Given the description of an element on the screen output the (x, y) to click on. 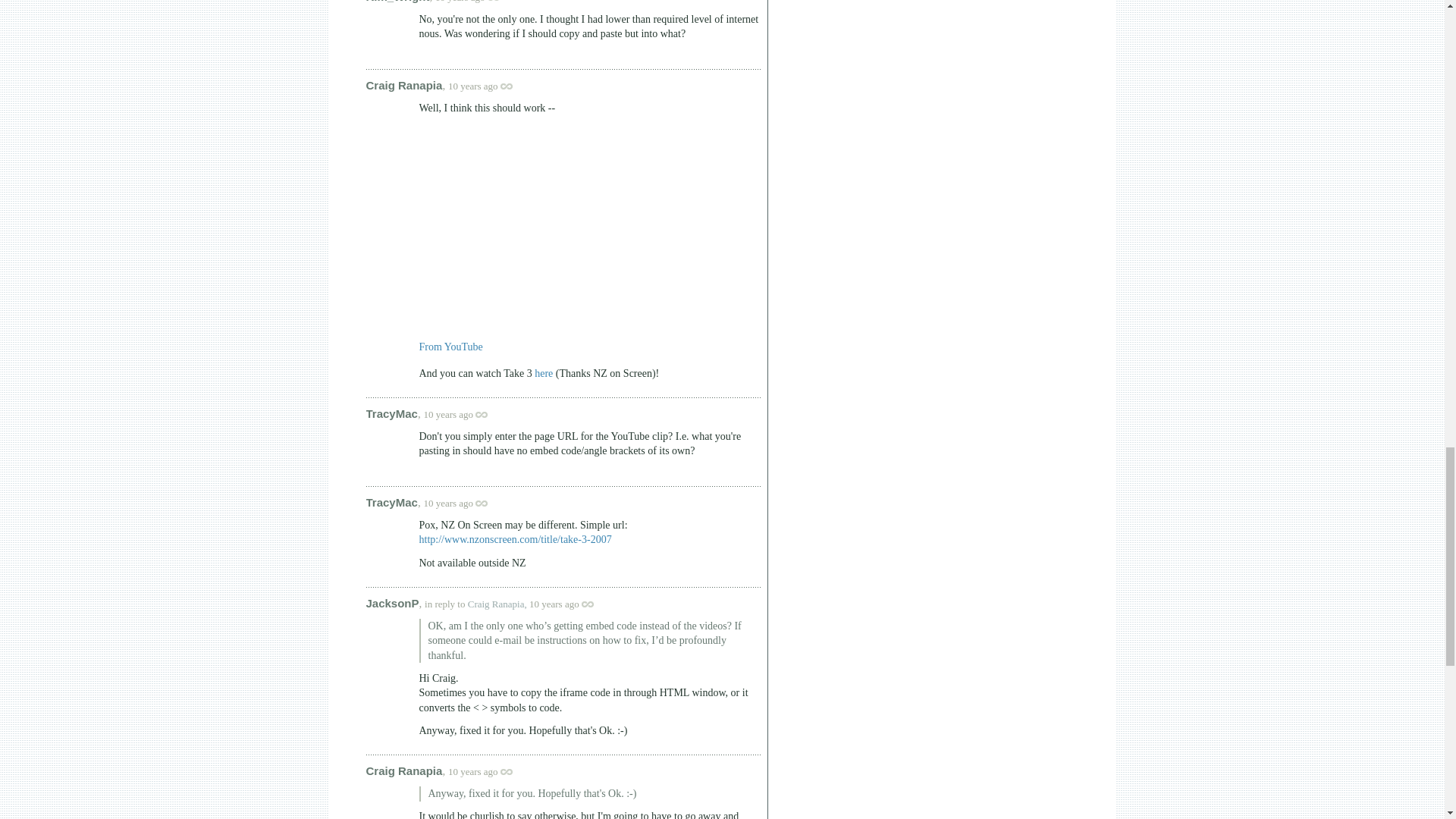
10 years ago (487, 771)
10 years ago (462, 414)
10 years ago (462, 502)
Craig Ranapia (403, 84)
TracyMac (390, 413)
11:24 Mar 28, 2014 (459, 1)
11:36 Mar 28, 2014 (448, 414)
10 years ago (487, 85)
here (543, 373)
11:52 Mar 28, 2014 (554, 603)
11:57 Mar 28, 2014 (472, 771)
11:28 Mar 28, 2014 (472, 85)
11:45 Mar 28, 2014 (448, 502)
10 years ago (475, 1)
Craig Ranapia, (497, 603)
